Given the description of an element on the screen output the (x, y) to click on. 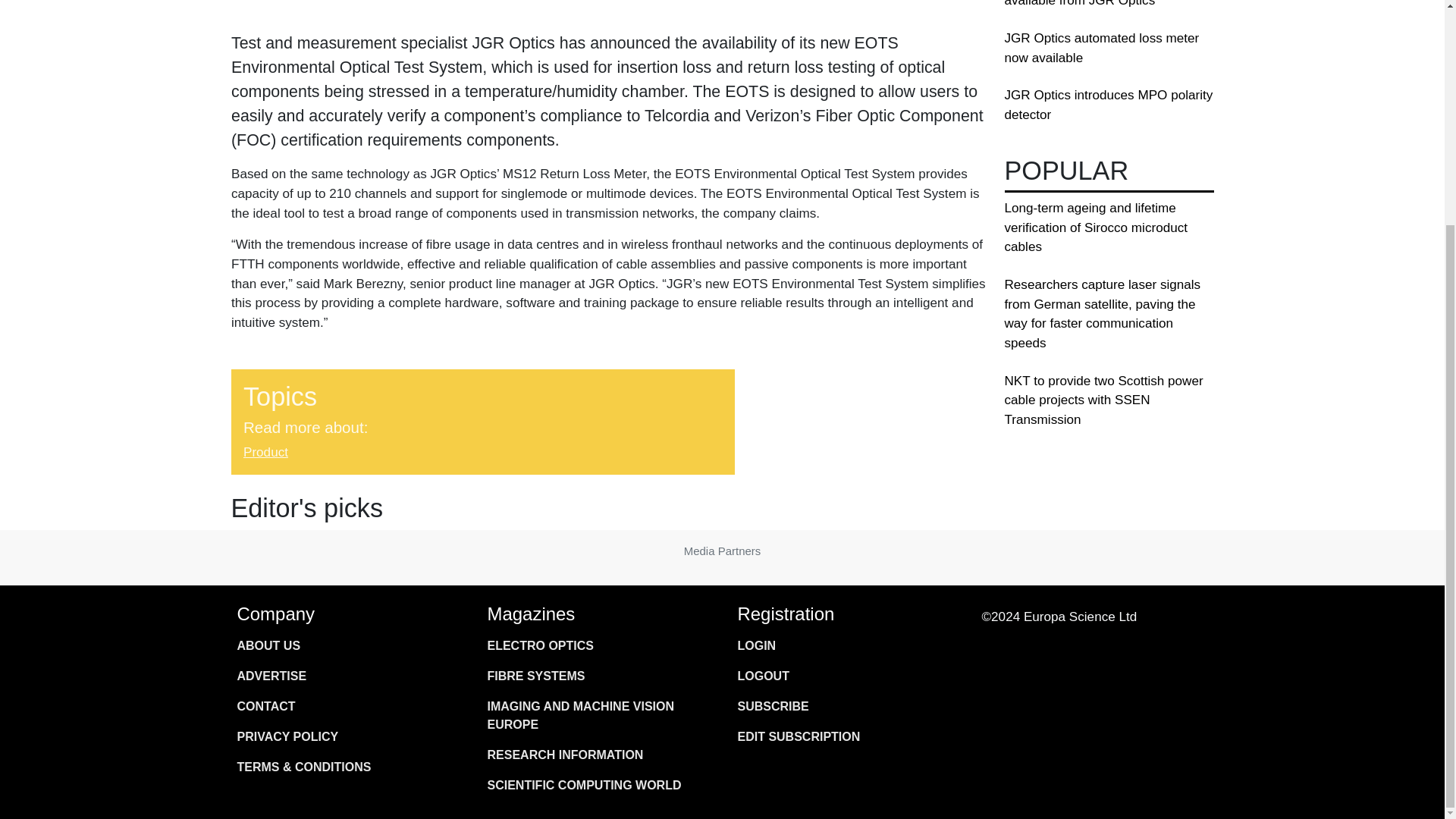
ABOUT US (346, 645)
New slide detector adapters made available from JGR Optics (1102, 4)
JGR Optics introduces MPO polarity detector (1108, 104)
Product (264, 452)
JGR Optics automated loss meter now available (1101, 48)
ADVERTISE (346, 675)
